Given the description of an element on the screen output the (x, y) to click on. 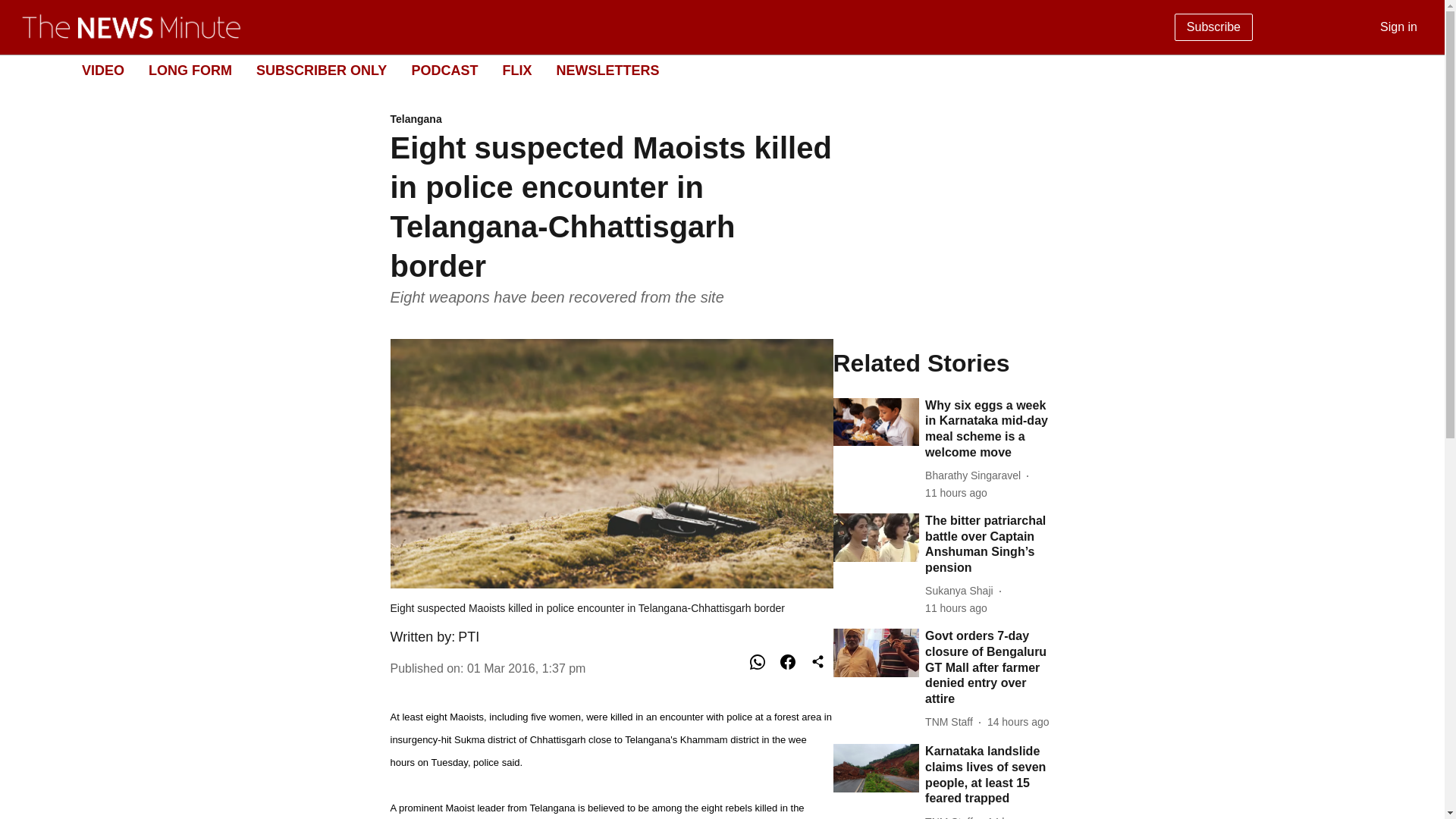
NEWSLETTERS (607, 70)
PODCAST (443, 70)
TNM Staff (951, 816)
Bharathy Singaravel (975, 475)
Related Stories (943, 362)
TNM Staff (951, 722)
Sukanya Shaji (709, 70)
LONG FORM (961, 590)
2024-07-18 10:26 (189, 70)
VIDEO (1018, 816)
Telangana (102, 70)
